Given the description of an element on the screen output the (x, y) to click on. 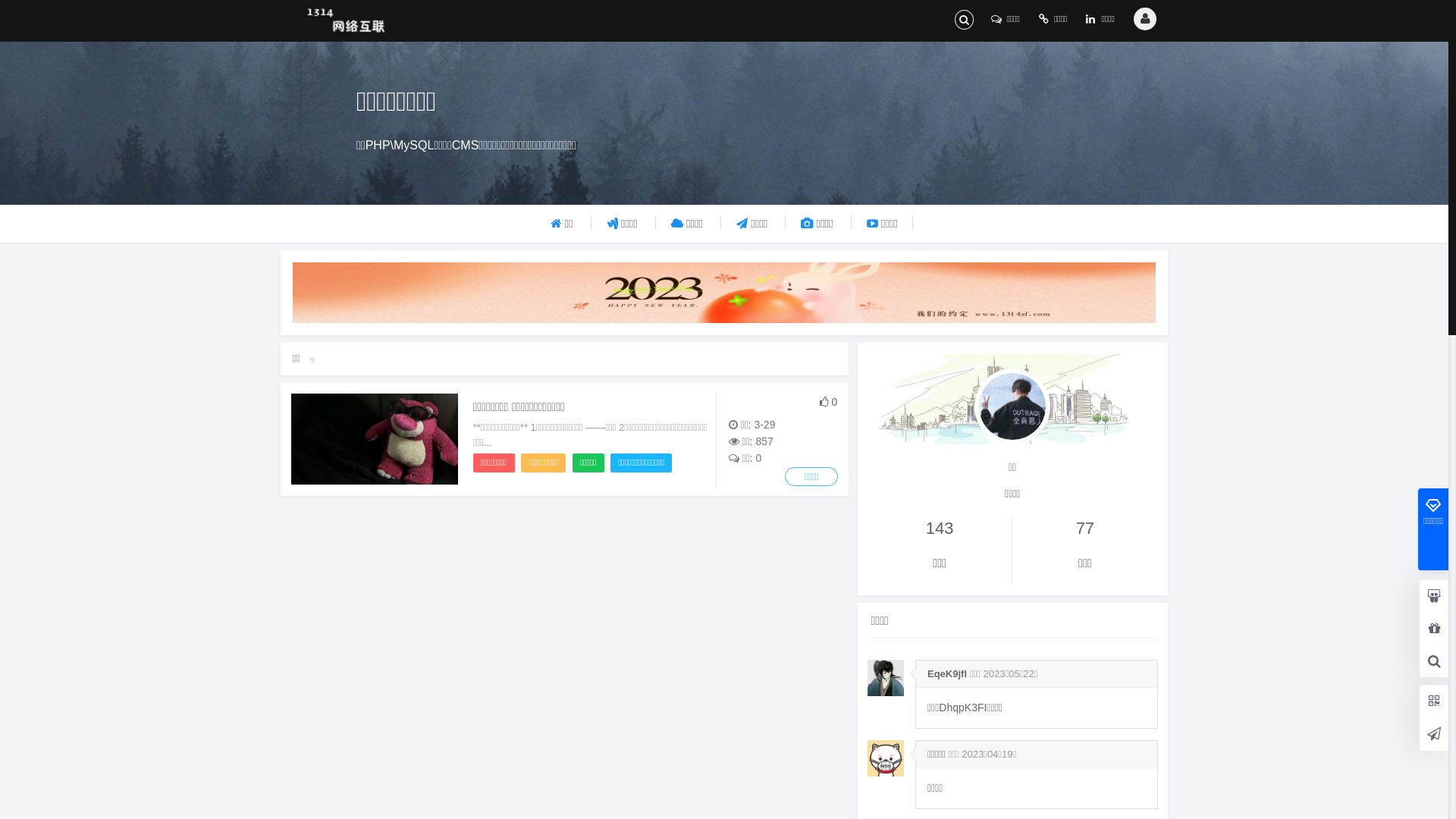
EqeK9jfI Element type: text (946, 673)
0 Element type: text (828, 401)
